Given the description of an element on the screen output the (x, y) to click on. 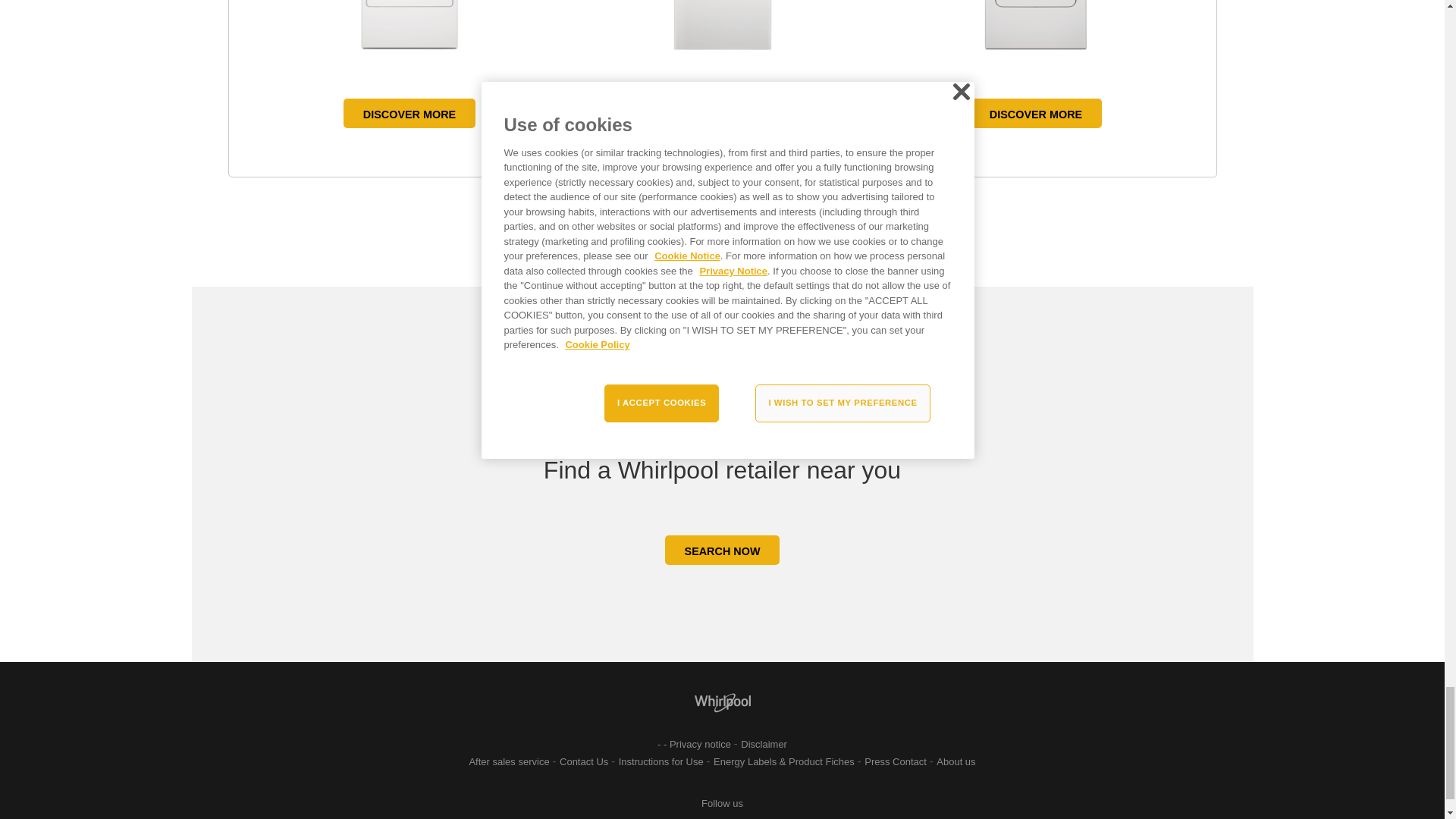
DISCOVER MORE (409, 112)
2 (727, 234)
DISCOVER MORE (722, 112)
SEARCH NOW (722, 550)
DISCOVER MORE (1035, 112)
1 (716, 234)
